Given the description of an element on the screen output the (x, y) to click on. 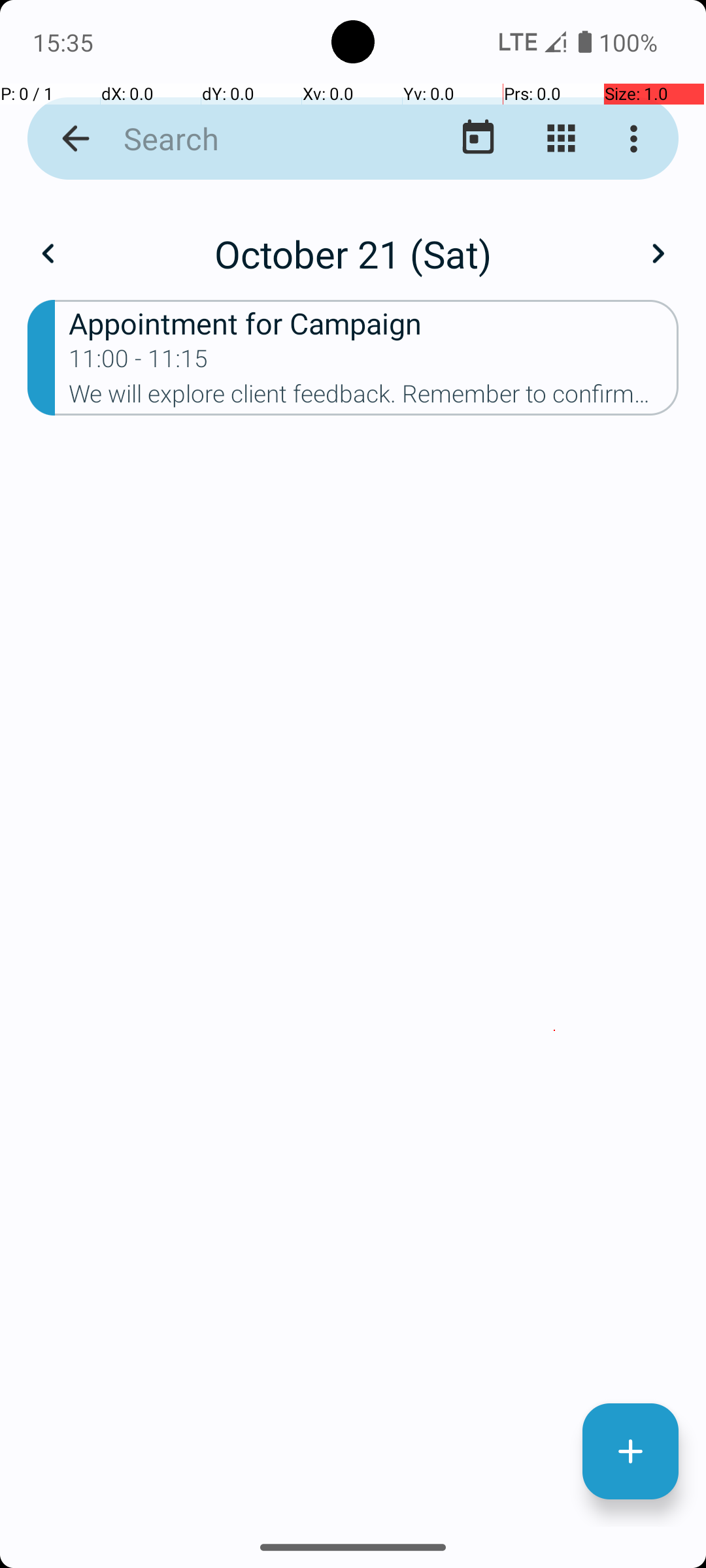
October 21 (Sat) Element type: android.widget.TextView (352, 253)
Appointment for Campaign Element type: android.widget.TextView (373, 321)
11:00 - 11:15 Element type: android.widget.TextView (137, 362)
We will explore client feedback. Remember to confirm attendance. Element type: android.widget.TextView (373, 397)
